Given the description of an element on the screen output the (x, y) to click on. 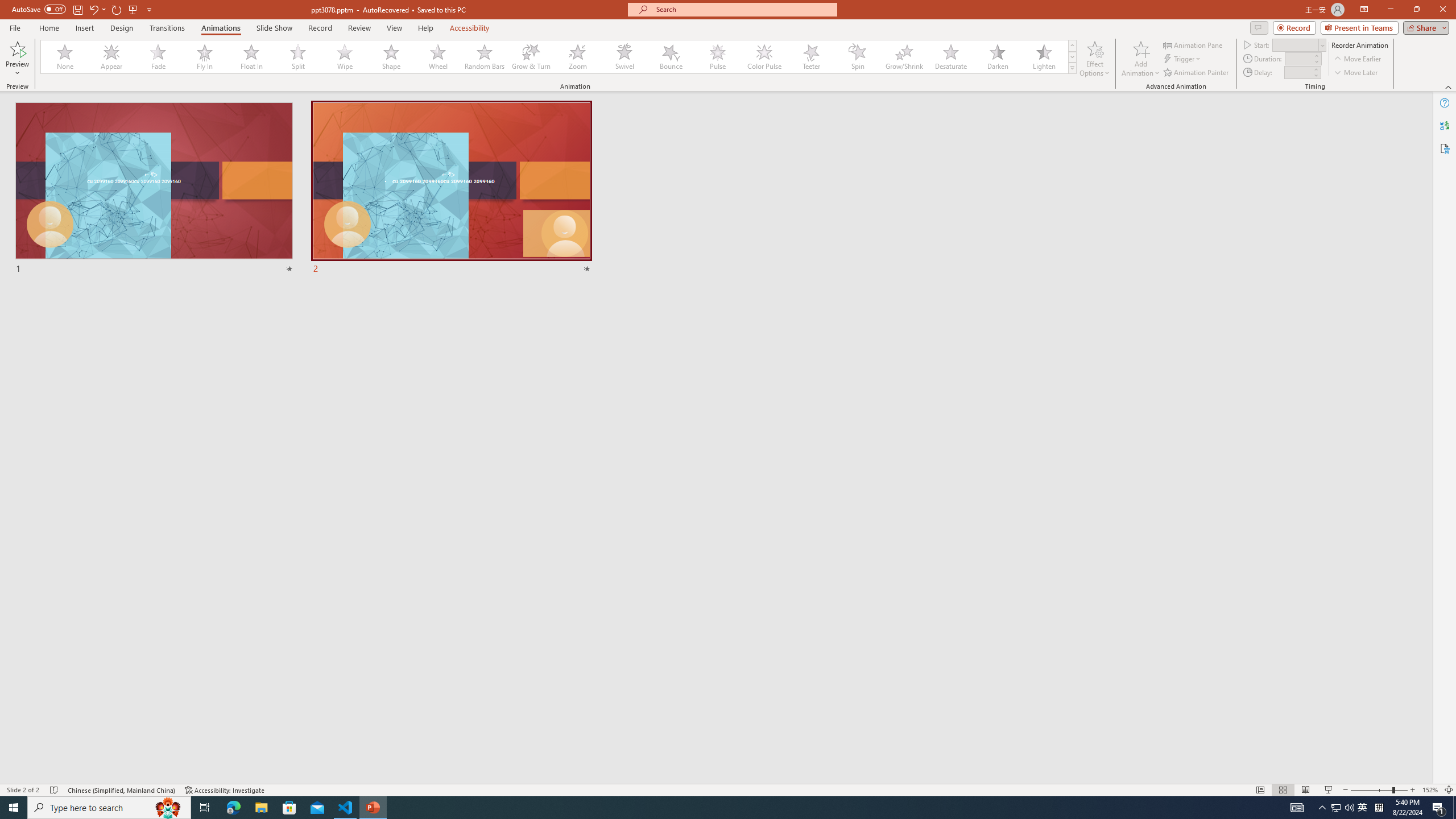
Teeter (810, 56)
Color Pulse (764, 56)
Trigger (1182, 58)
Animation Duration (1298, 58)
Bounce (670, 56)
